Given the description of an element on the screen output the (x, y) to click on. 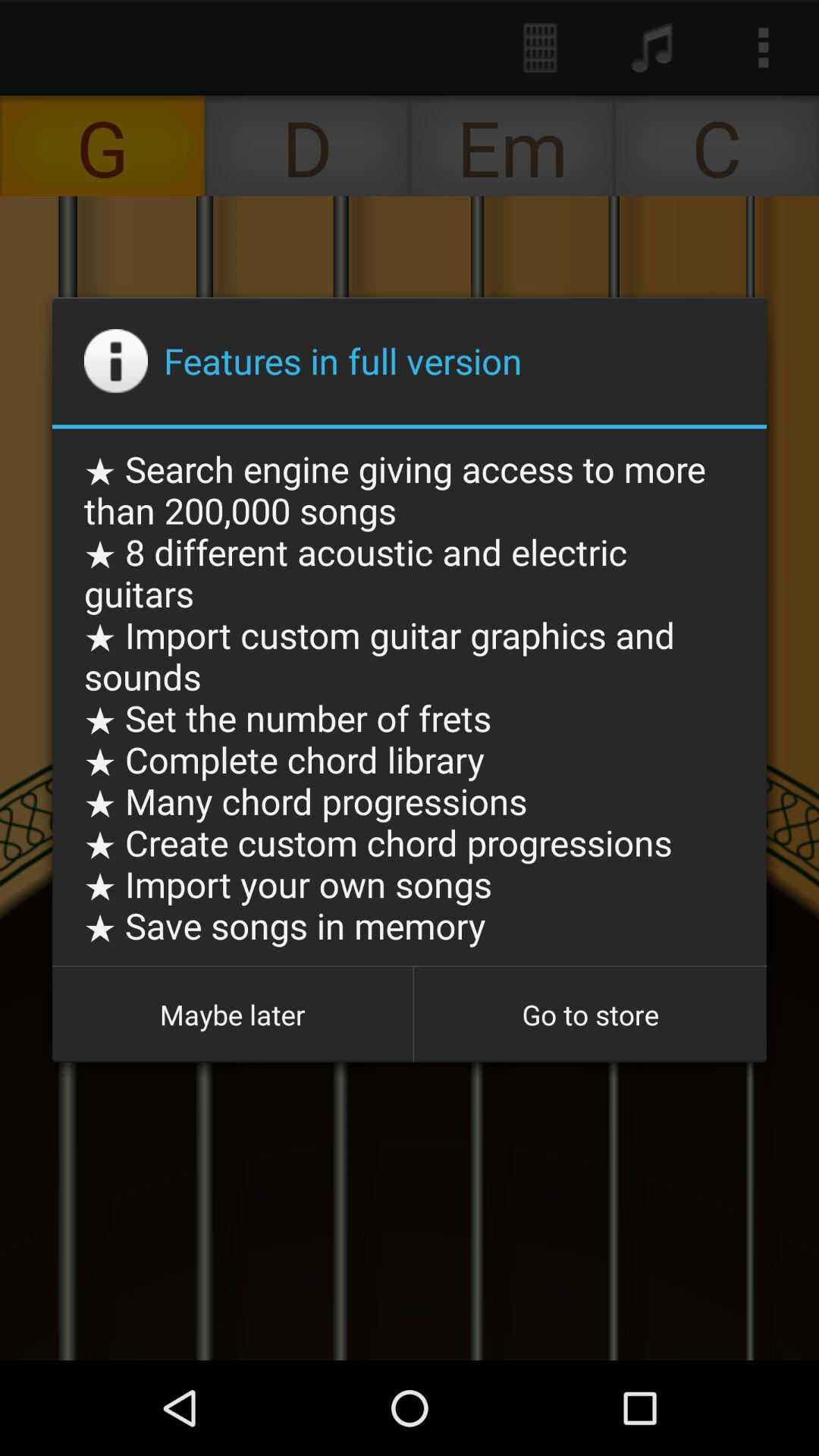
open maybe later icon (232, 1014)
